Given the description of an element on the screen output the (x, y) to click on. 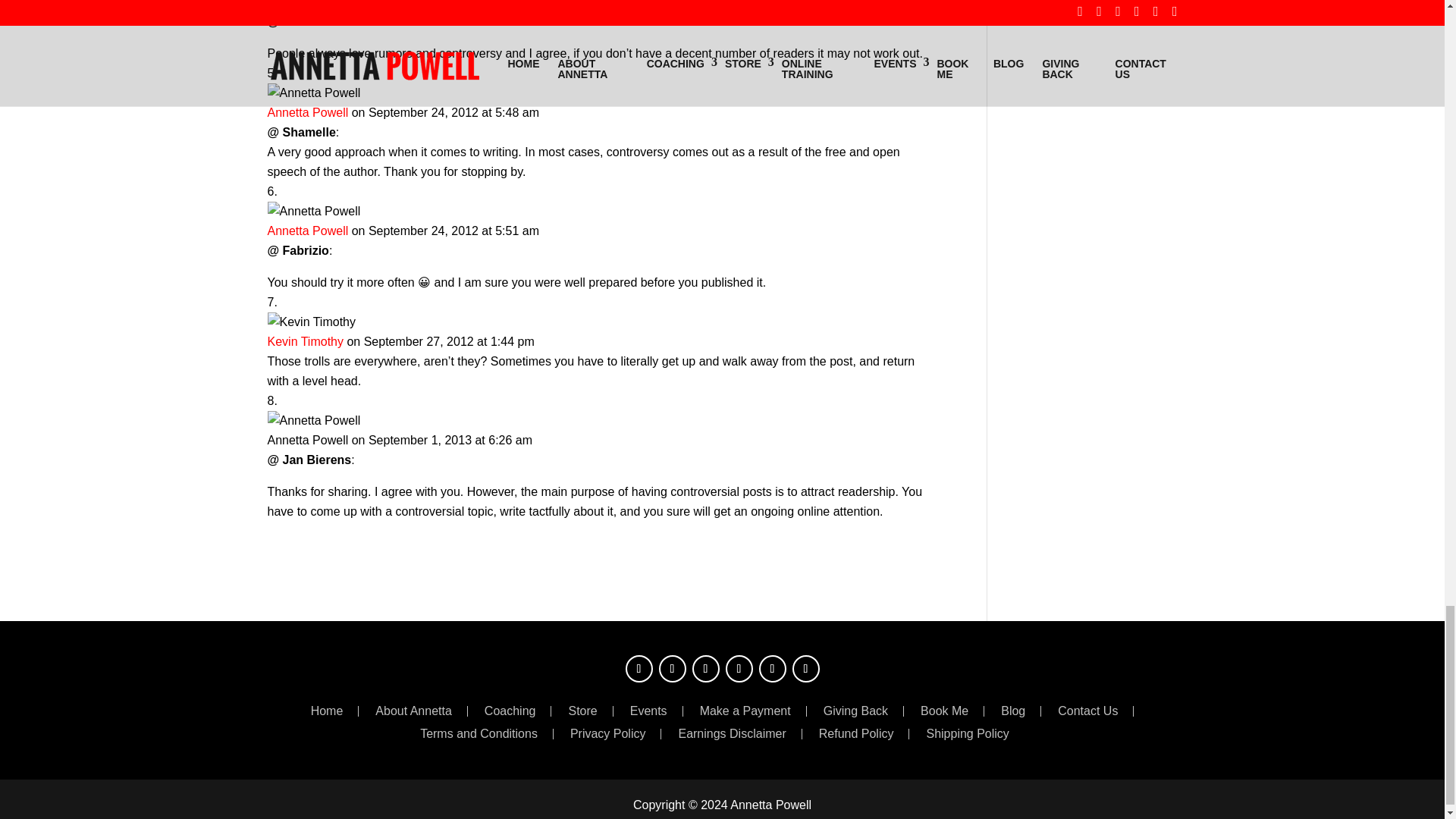
Follow on Facebook (638, 668)
Follow on X (671, 668)
Follow on Instagram (705, 668)
